Given the description of an element on the screen output the (x, y) to click on. 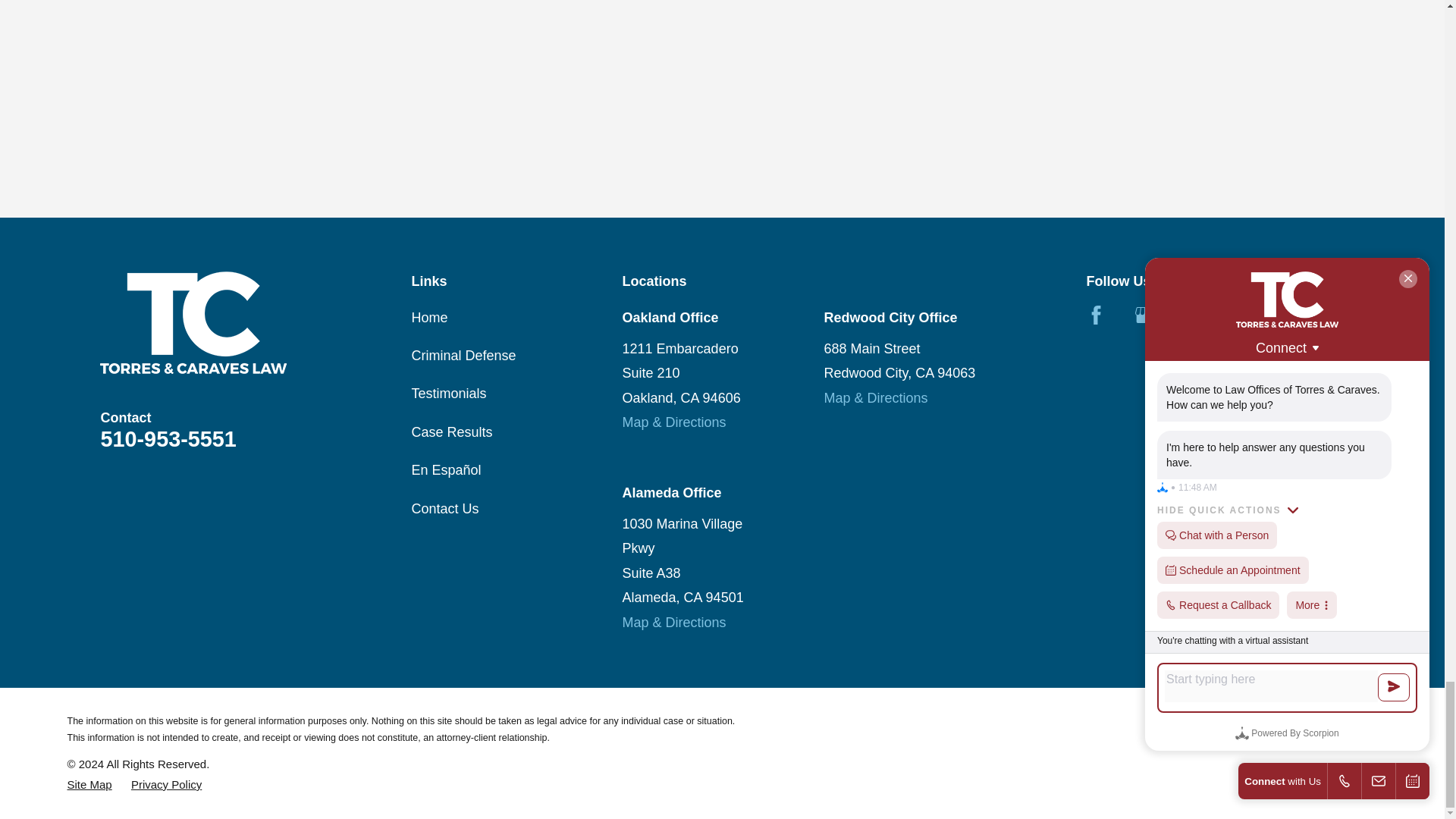
Twitter (1194, 314)
Google Business Profile (1144, 314)
Facebook (1095, 314)
Yelp (1242, 314)
Home (244, 322)
